Given the description of an element on the screen output the (x, y) to click on. 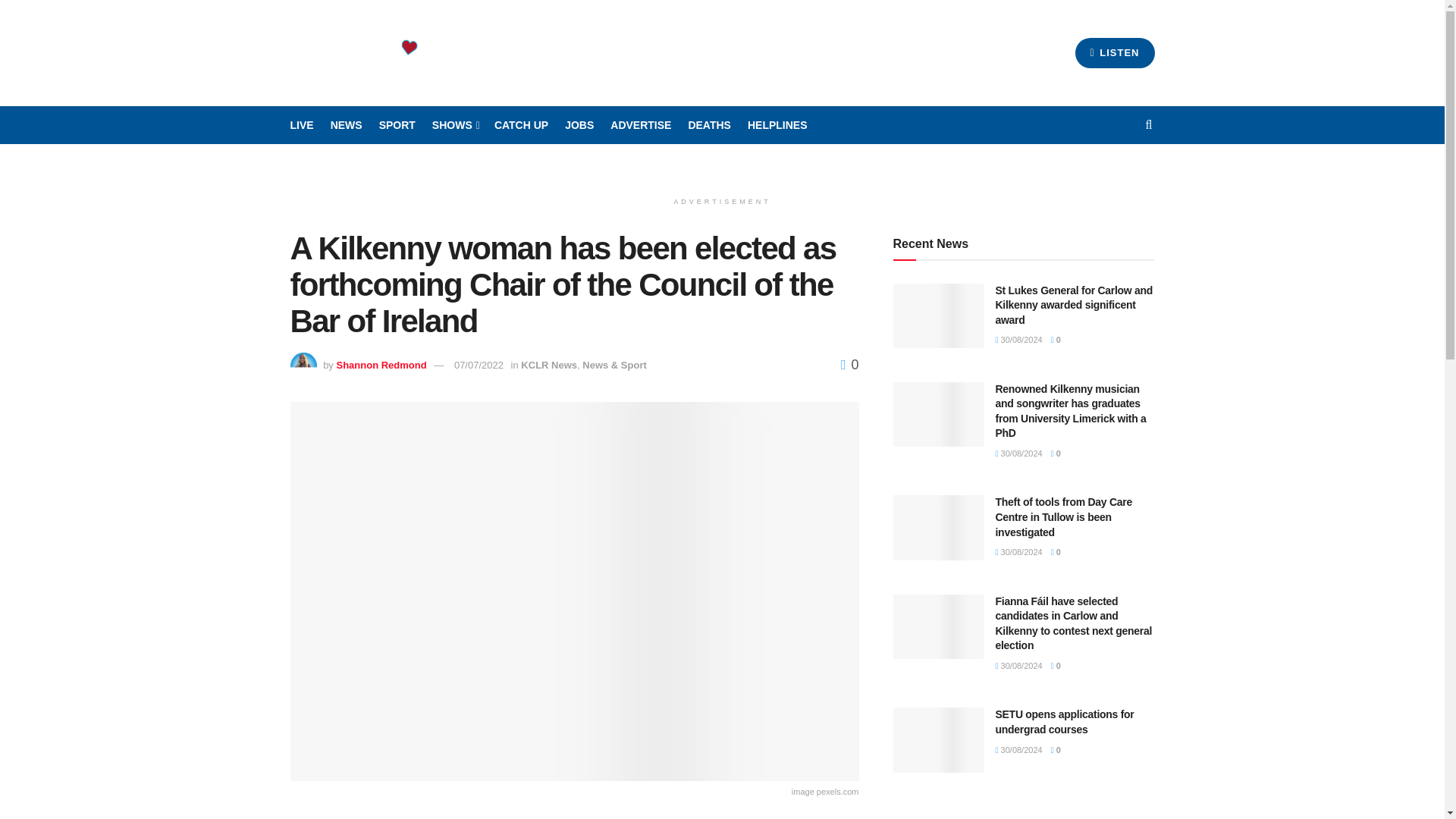
SPORT (396, 125)
CATCH UP (521, 125)
LISTEN (1114, 52)
Listen back to KCLR shows (521, 125)
Carlow and Kilkenny Death Notices (708, 125)
DEATHS (708, 125)
SHOWS (454, 125)
HELPLINES (778, 125)
KCLR Sport on Scoreline.ie (396, 125)
ADVERTISE (640, 125)
